Given the description of an element on the screen output the (x, y) to click on. 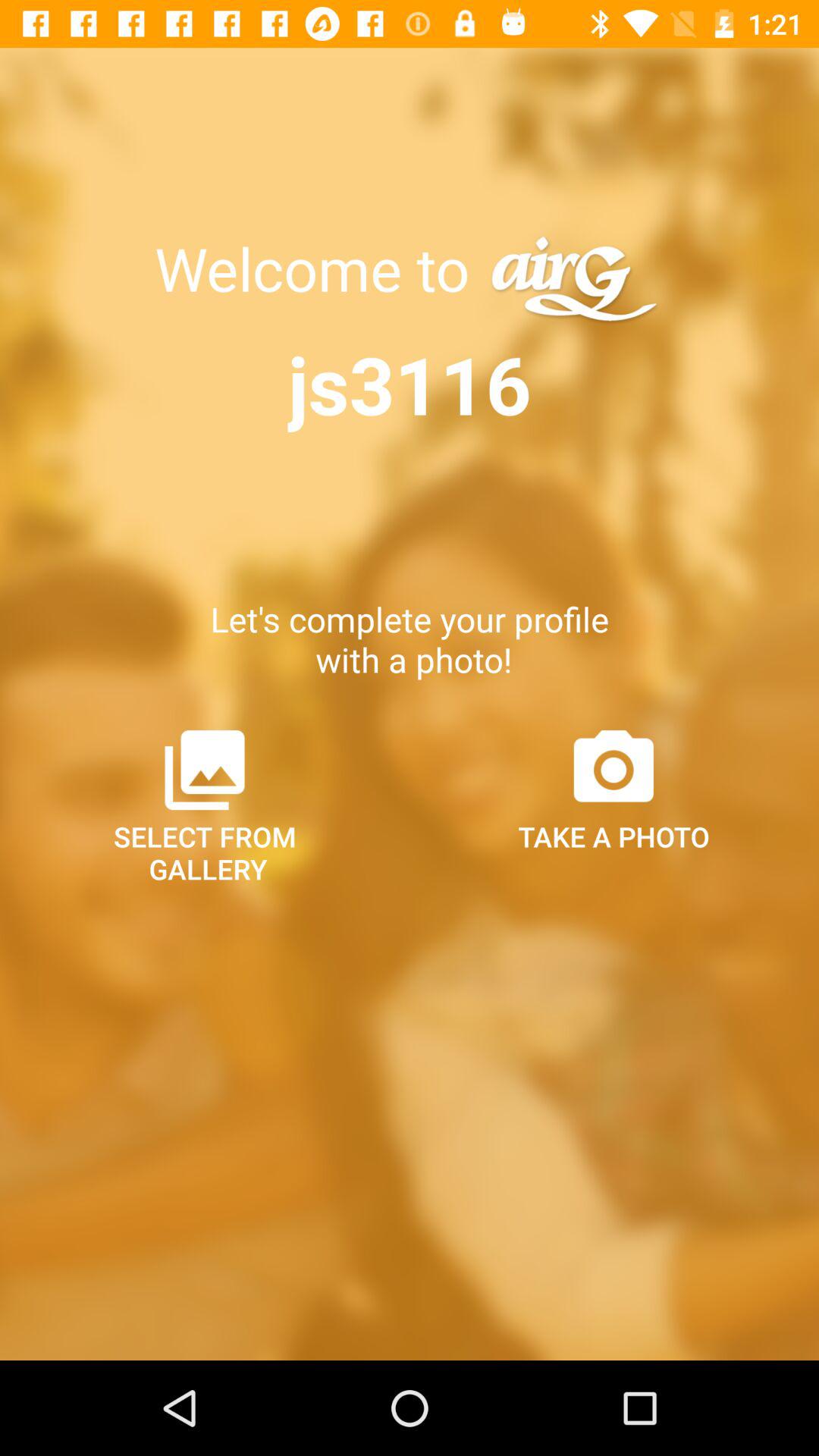
select the item below let s complete item (204, 804)
